Given the description of an element on the screen output the (x, y) to click on. 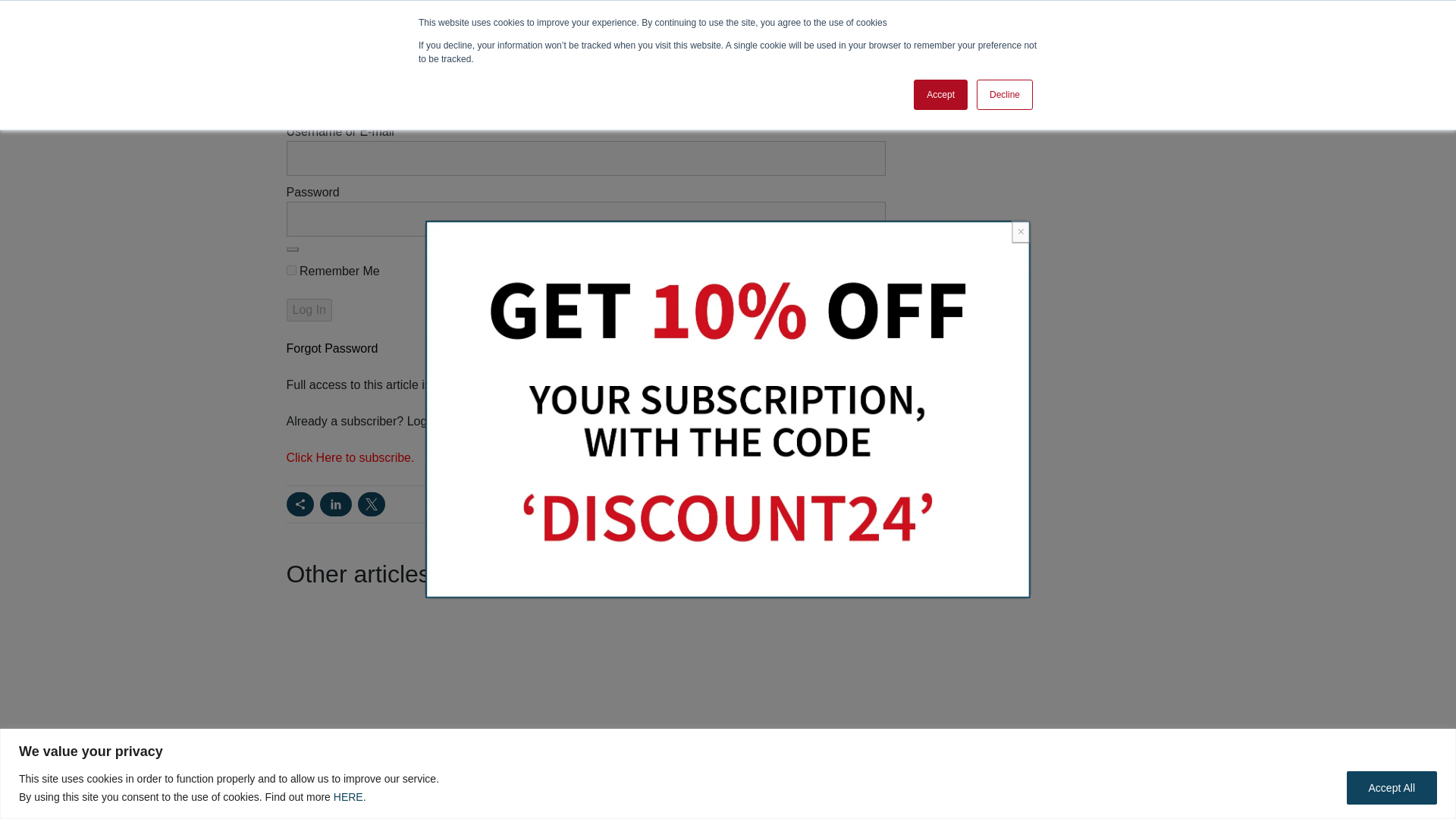
HERE. (349, 138)
Accept All (1391, 129)
Log In (308, 309)
Mini Clubman interior. Credit: Grupo Antolin (841, 98)
